Given the description of an element on the screen output the (x, y) to click on. 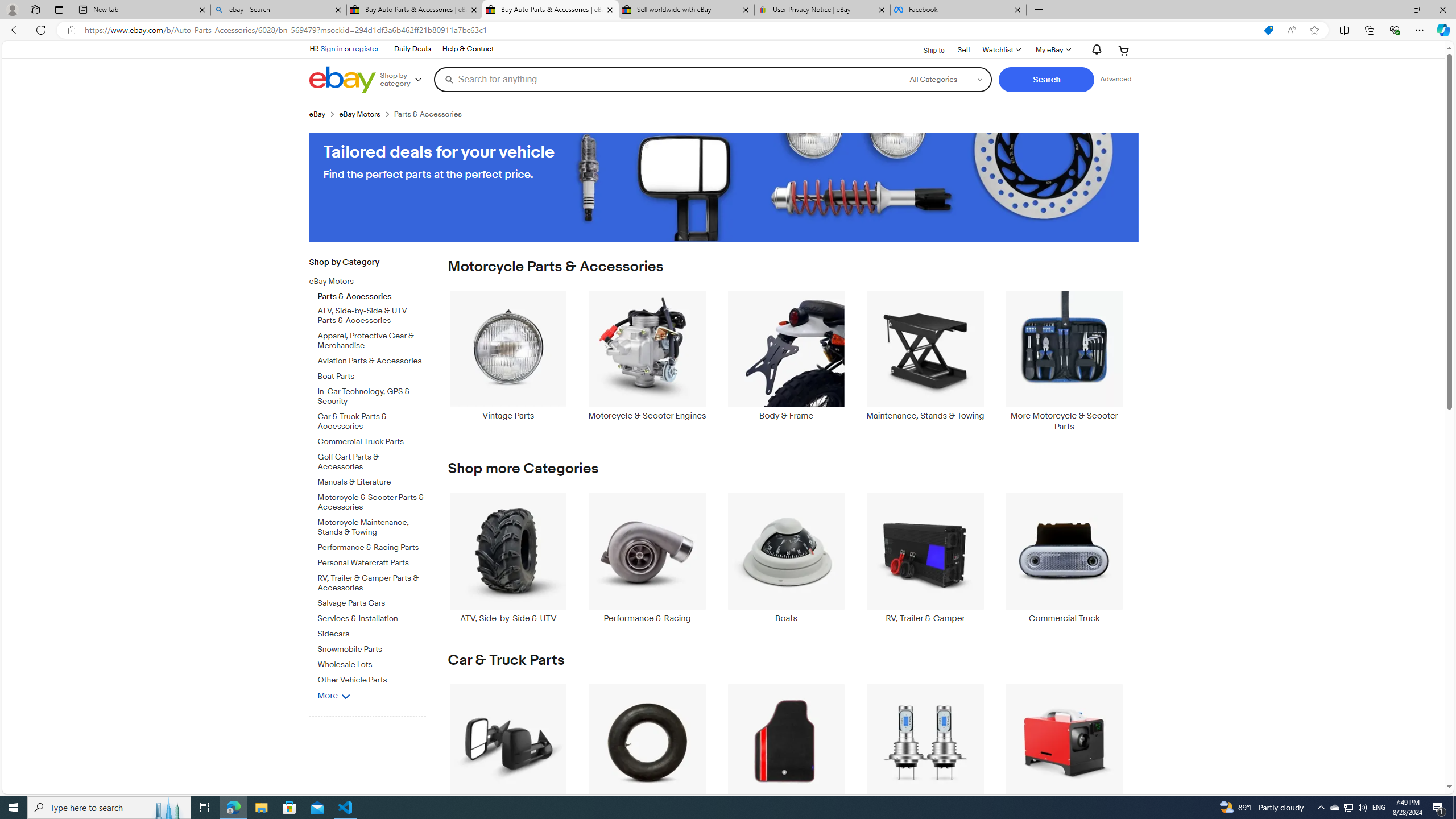
Performance & Racing Parts (371, 547)
Motorcycle & Scooter Parts & Accessories (371, 502)
Performance & Racing (646, 558)
Motorcycle & Scooter Engines (646, 355)
RV, Trailer & Camper Parts & Accessories (371, 580)
Advanced Search (1115, 78)
Commercial Truck Parts (371, 439)
RV, Trailer & Camper (925, 558)
Manuals & Literature (371, 480)
eBay Motors (362, 281)
Shop by category (405, 79)
Your shopping cart (1123, 49)
